Given the description of an element on the screen output the (x, y) to click on. 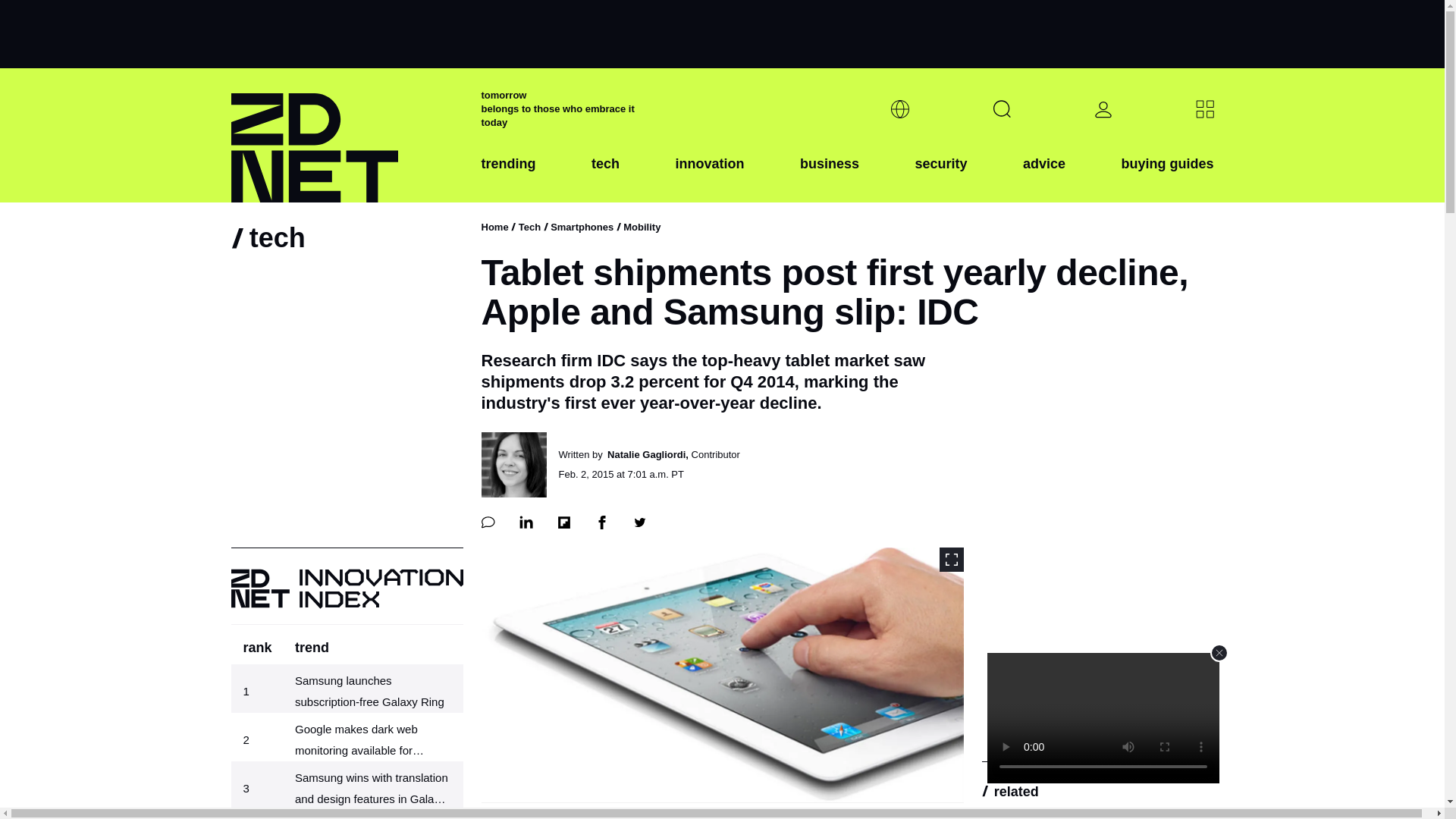
3rd party ad content (1097, 642)
trending (507, 175)
3rd party ad content (721, 33)
ZDNET (346, 134)
